Given the description of an element on the screen output the (x, y) to click on. 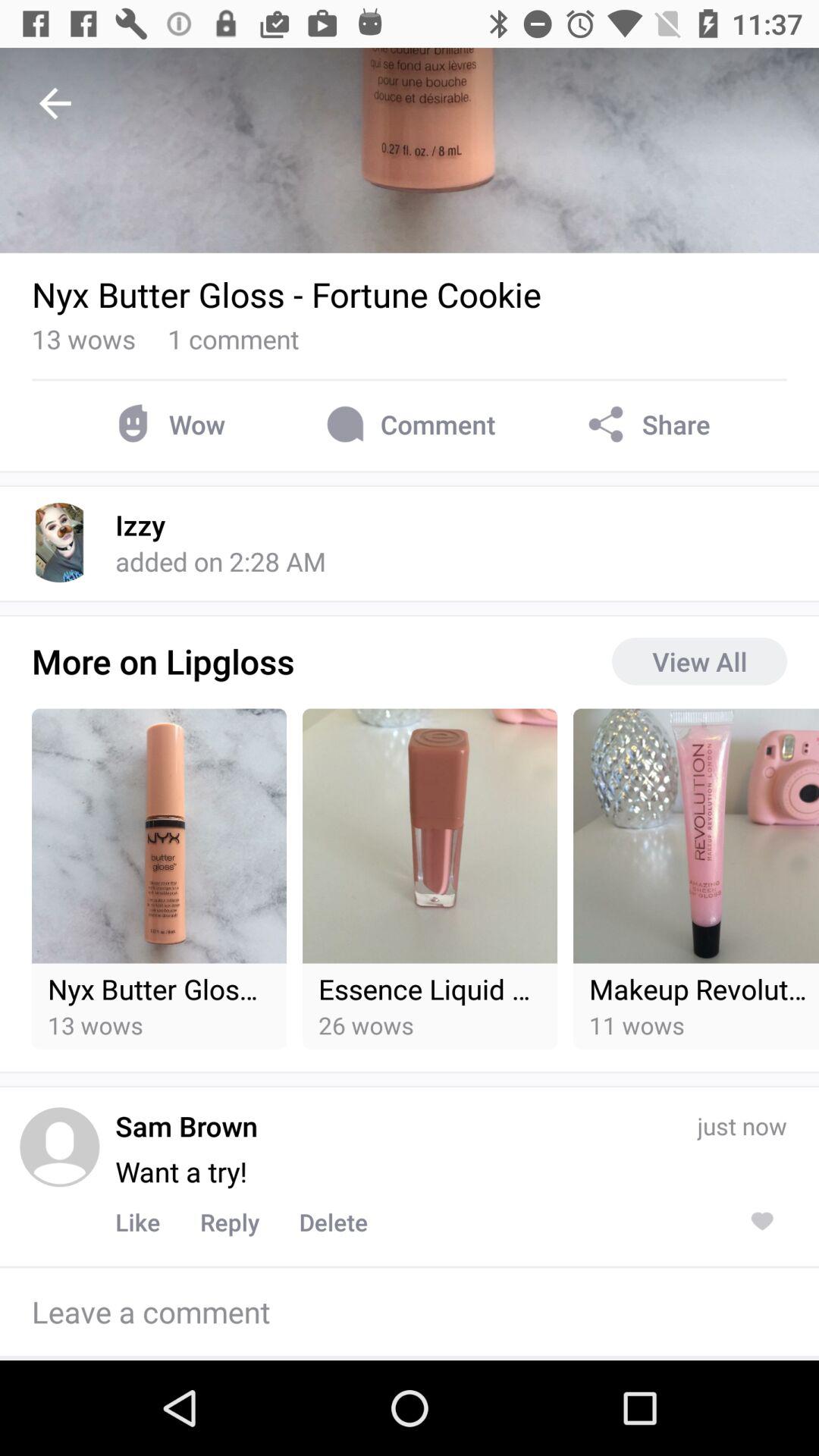
tap icon next to the reply (333, 1221)
